Given the description of an element on the screen output the (x, y) to click on. 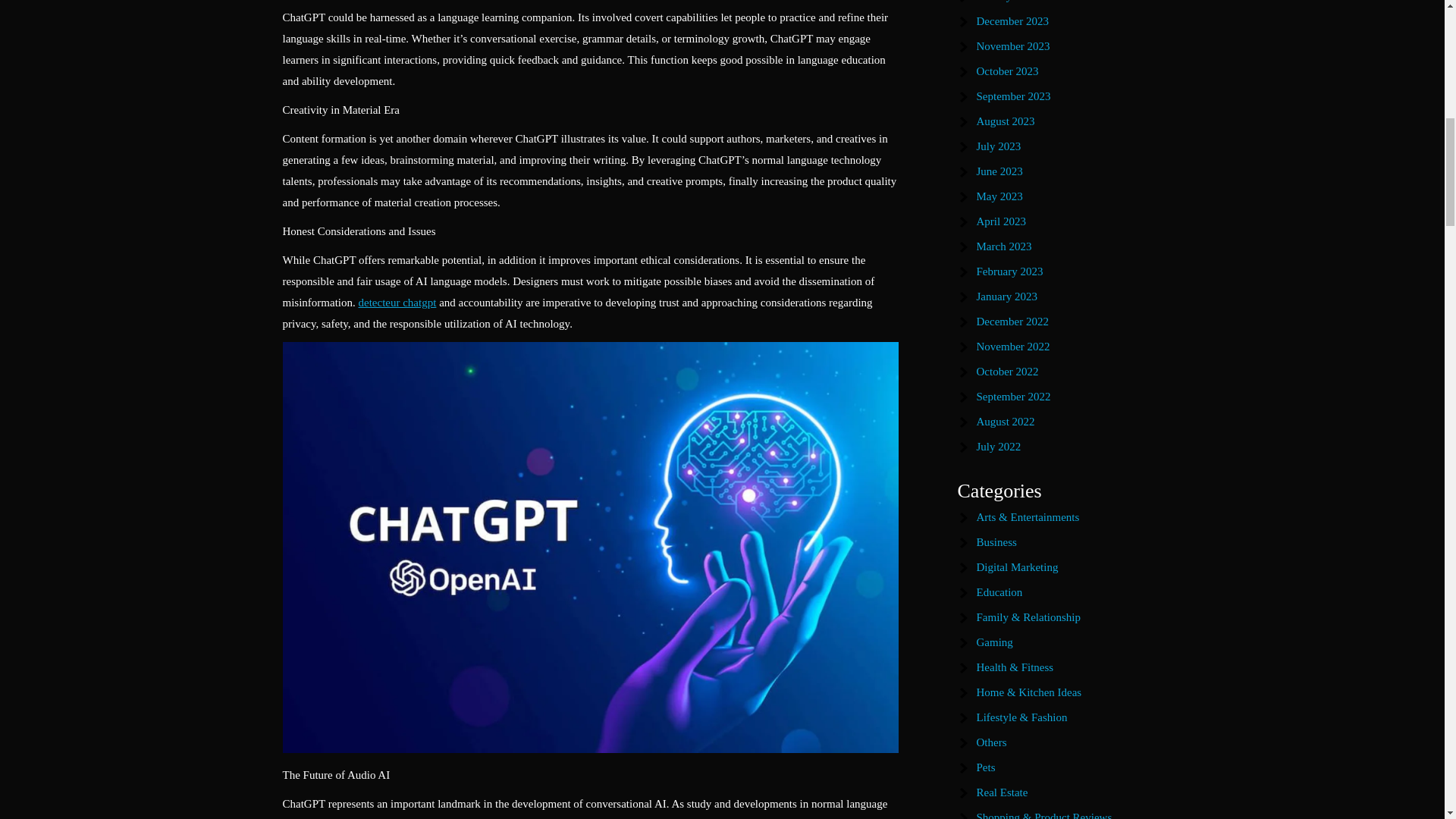
detecteur chatgpt (396, 302)
December 2023 (1012, 21)
January 2024 (1006, 1)
